Given the description of an element on the screen output the (x, y) to click on. 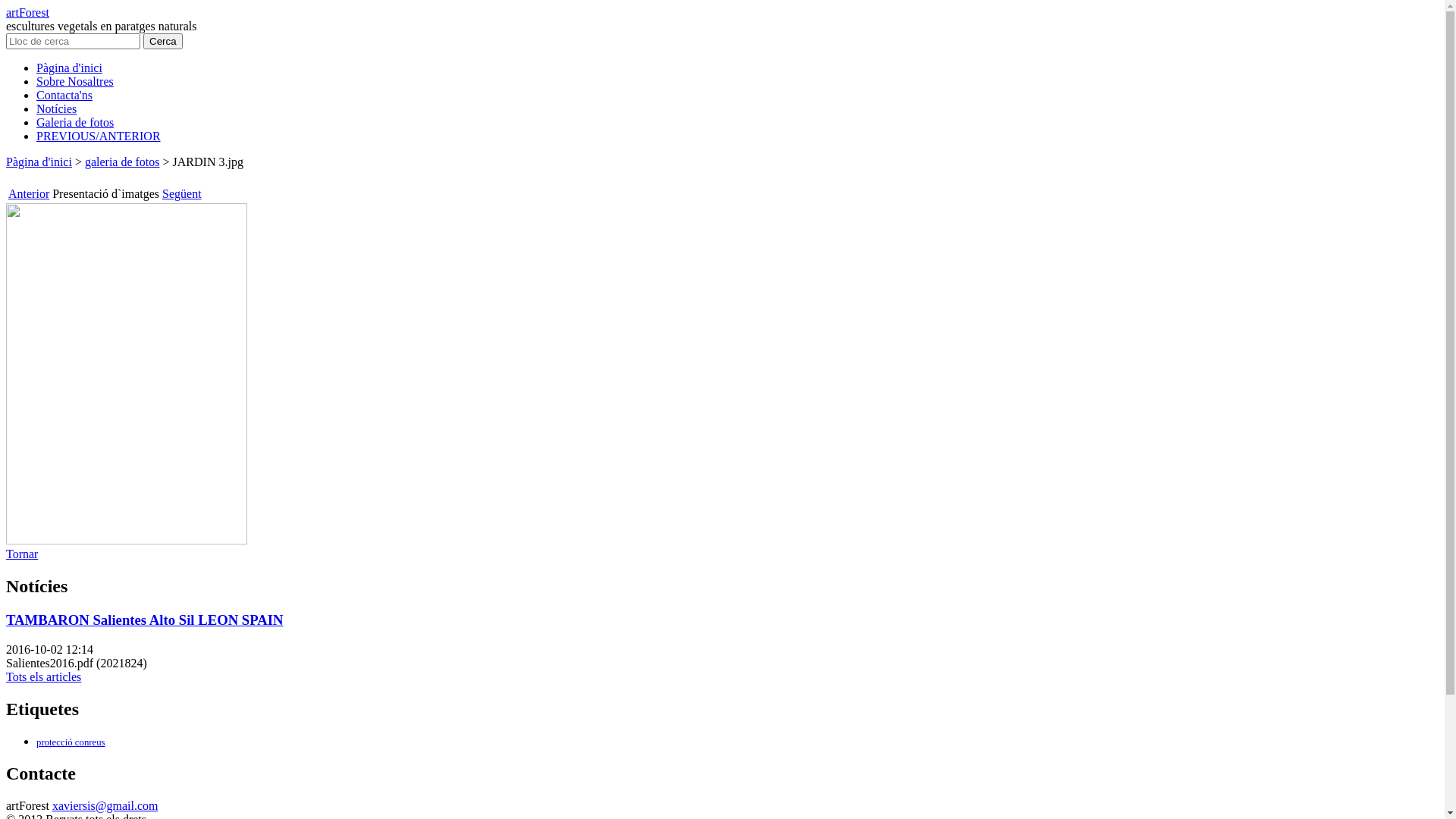
Contacta'ns Element type: text (64, 94)
galeria de fotos Element type: text (122, 161)
xaviersis@gmail.com Element type: text (105, 805)
Sobre Nosaltres Element type: text (74, 81)
PREVIOUS/ANTERIOR Element type: text (98, 135)
Galeria de fotos Element type: text (74, 122)
TAMBARON Salientes Alto Sil LEON SPAIN Element type: text (144, 619)
artForest Element type: text (27, 12)
Cerca Element type: text (162, 41)
Tornar Element type: text (21, 553)
Anterior Element type: text (28, 193)
Tots els articles Element type: text (43, 676)
